Given the description of an element on the screen output the (x, y) to click on. 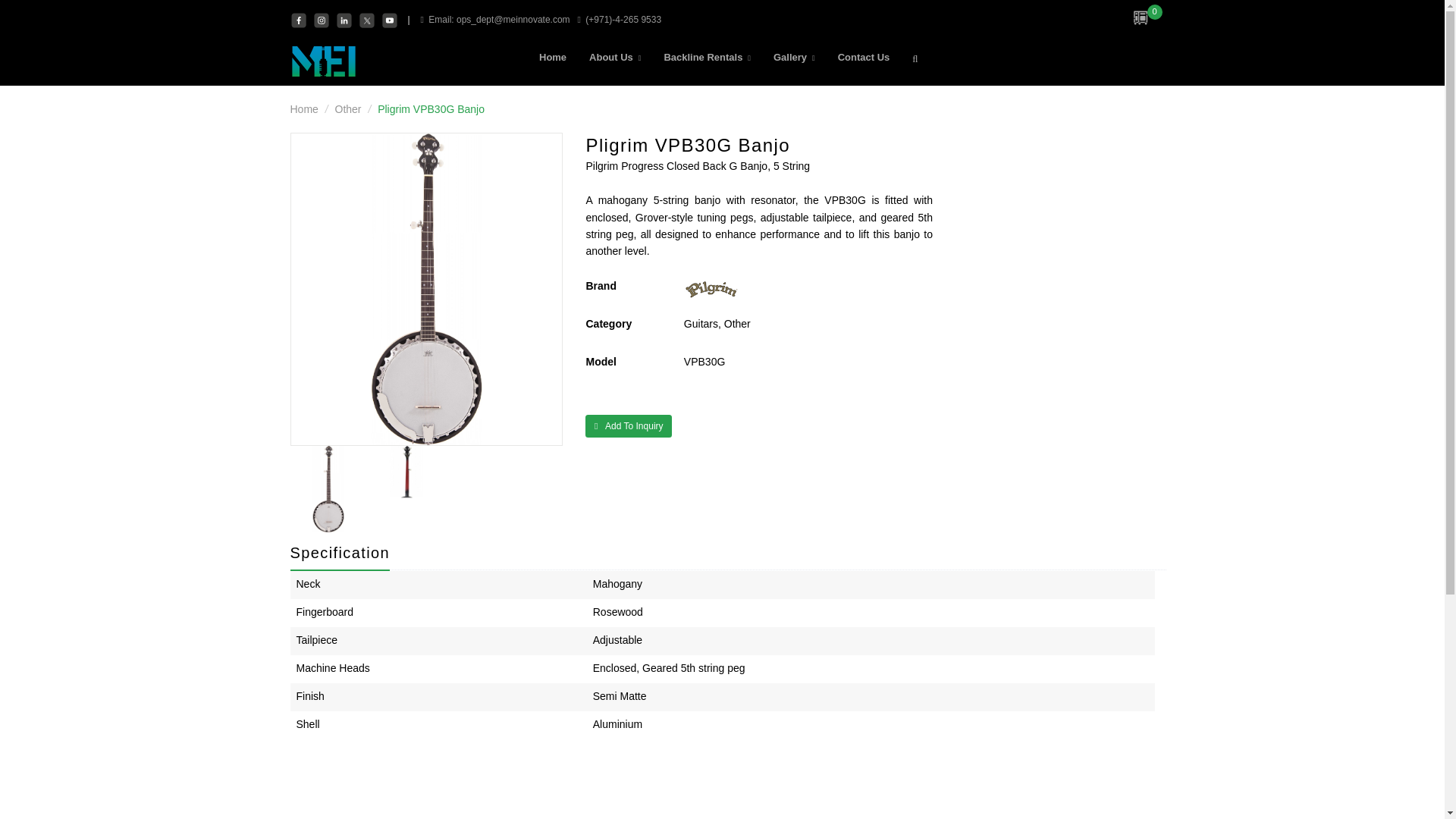
About Us (614, 58)
0 (1140, 23)
Home (552, 57)
Backline Rentals (707, 58)
